Given the description of an element on the screen output the (x, y) to click on. 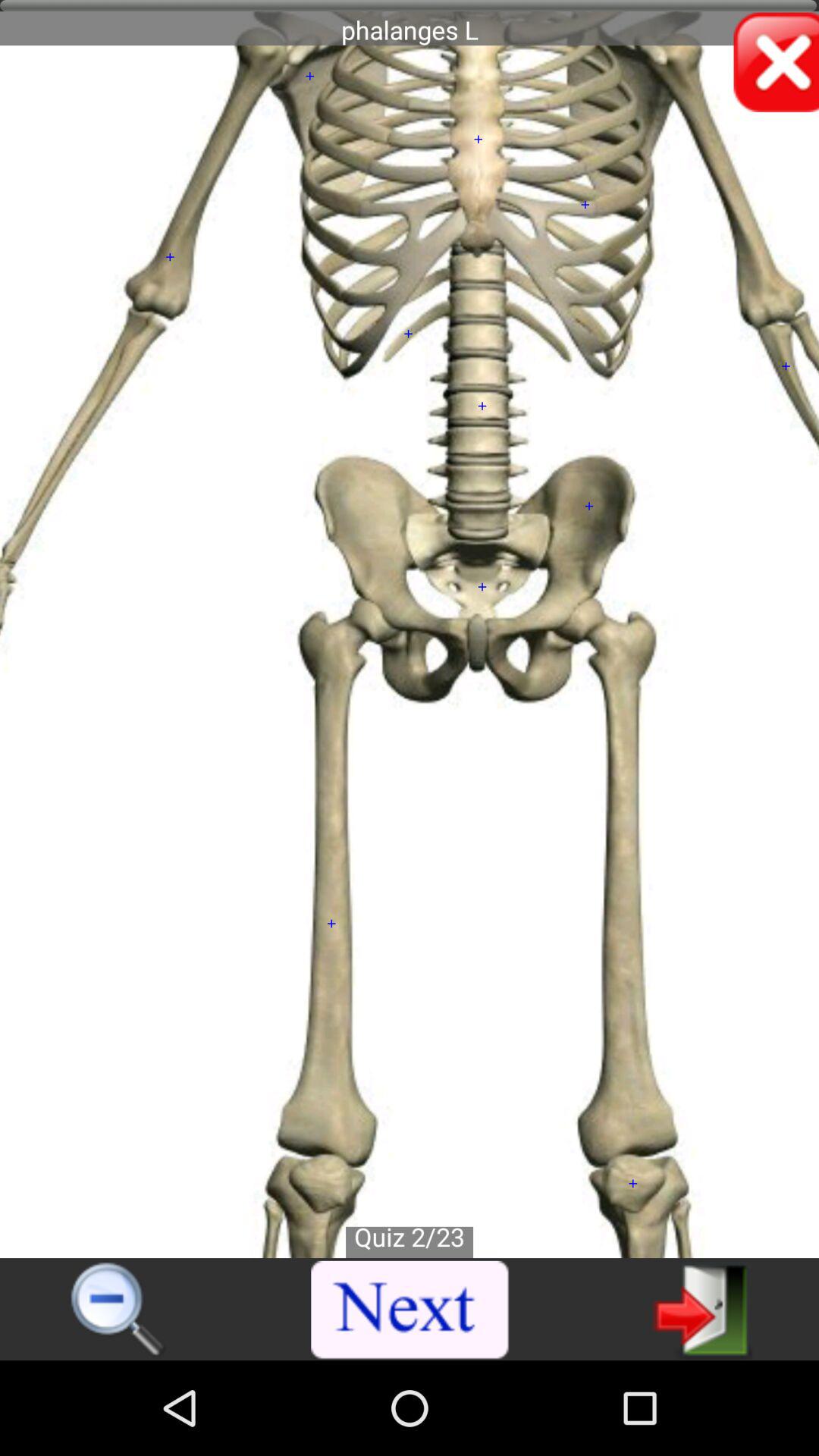
zoom out (118, 1310)
